Given the description of an element on the screen output the (x, y) to click on. 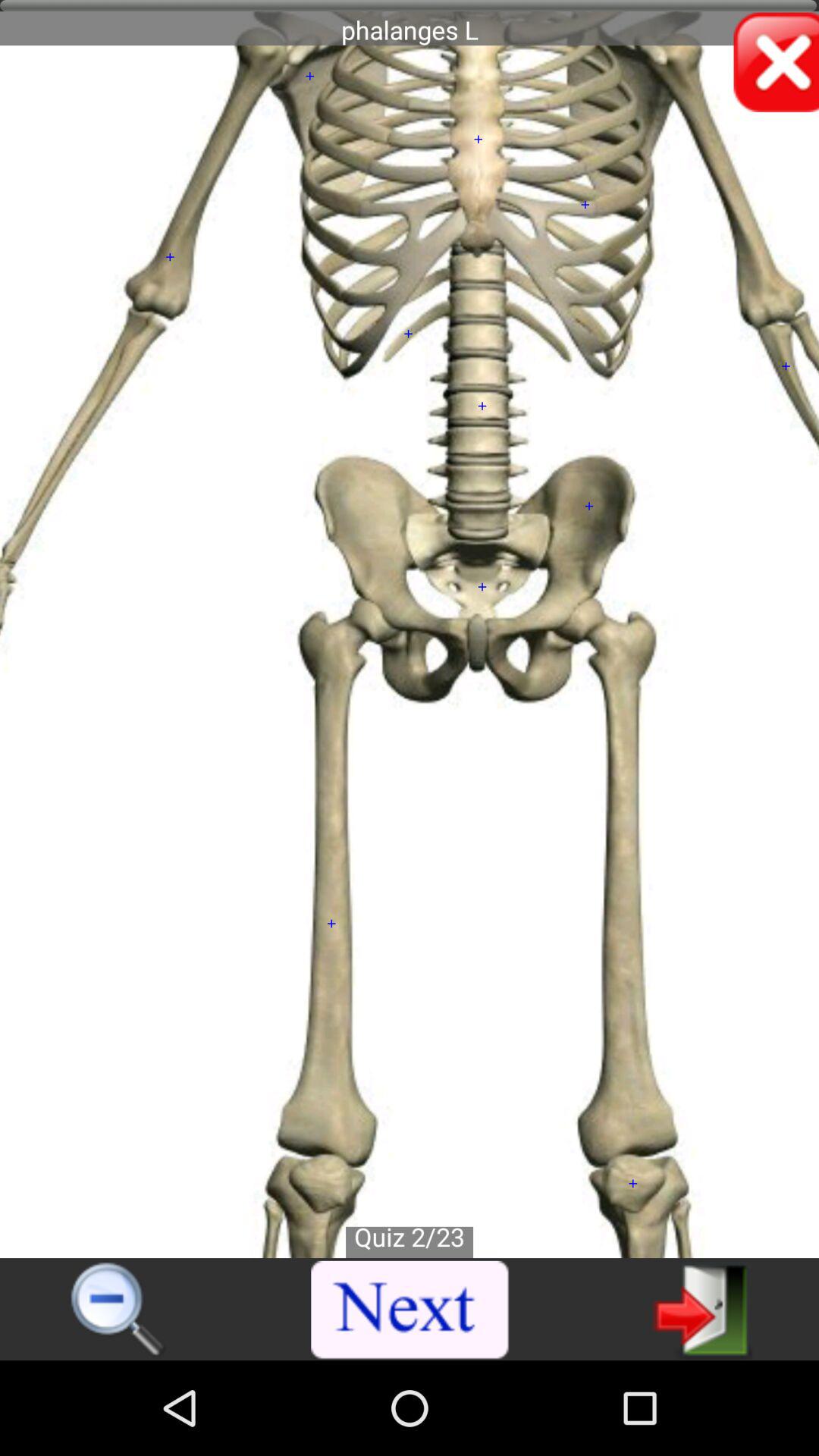
zoom out (118, 1310)
